Given the description of an element on the screen output the (x, y) to click on. 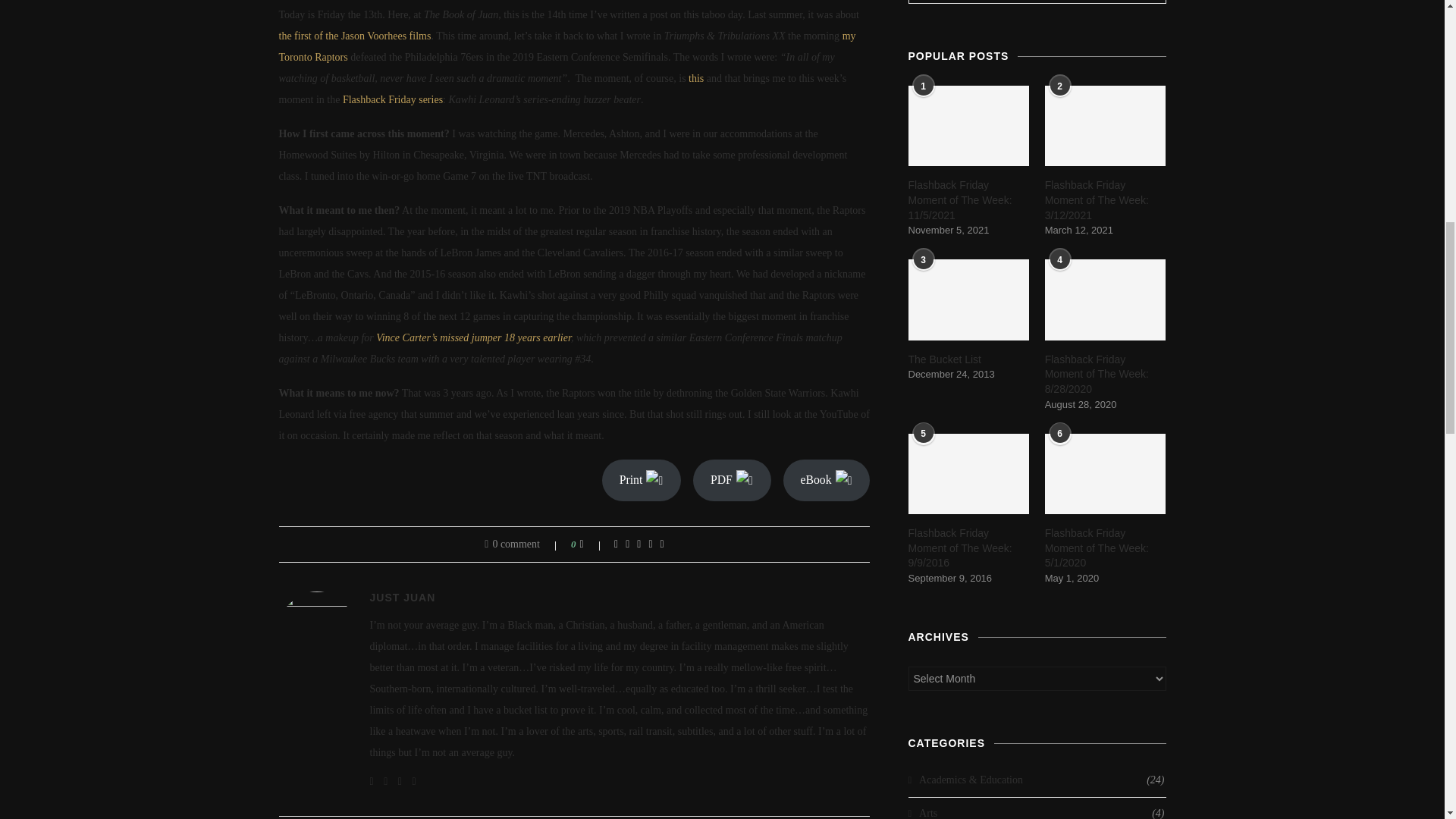
Like (591, 544)
PDF (732, 480)
JUST JUAN (402, 597)
Author Just Juan (402, 597)
eBook (826, 480)
Print (641, 480)
my Toronto Raptors (567, 46)
Flashback Friday series (392, 99)
this (695, 78)
the first of the Jason Voorhees films (354, 35)
